Given the description of an element on the screen output the (x, y) to click on. 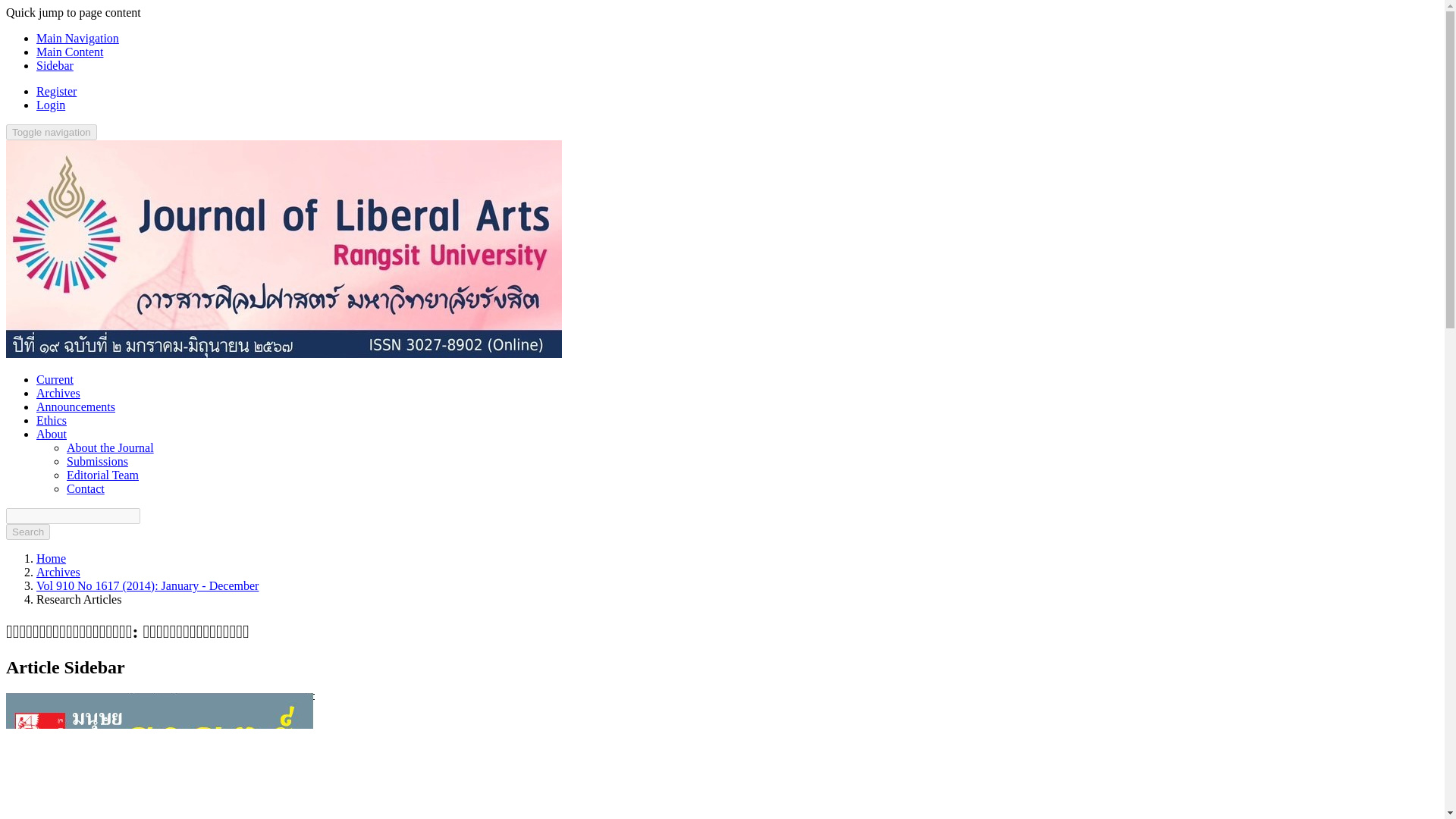
Editorial Team (102, 474)
Main Navigation (77, 38)
About (51, 433)
Main Content (69, 51)
Toggle navigation (51, 132)
Announcements (75, 406)
Sidebar (55, 65)
About the Journal (110, 447)
Archives (58, 392)
Contact (85, 488)
Submissions (97, 461)
Archives (58, 571)
Login (50, 104)
Ethics (51, 420)
Register (56, 91)
